Given the description of an element on the screen output the (x, y) to click on. 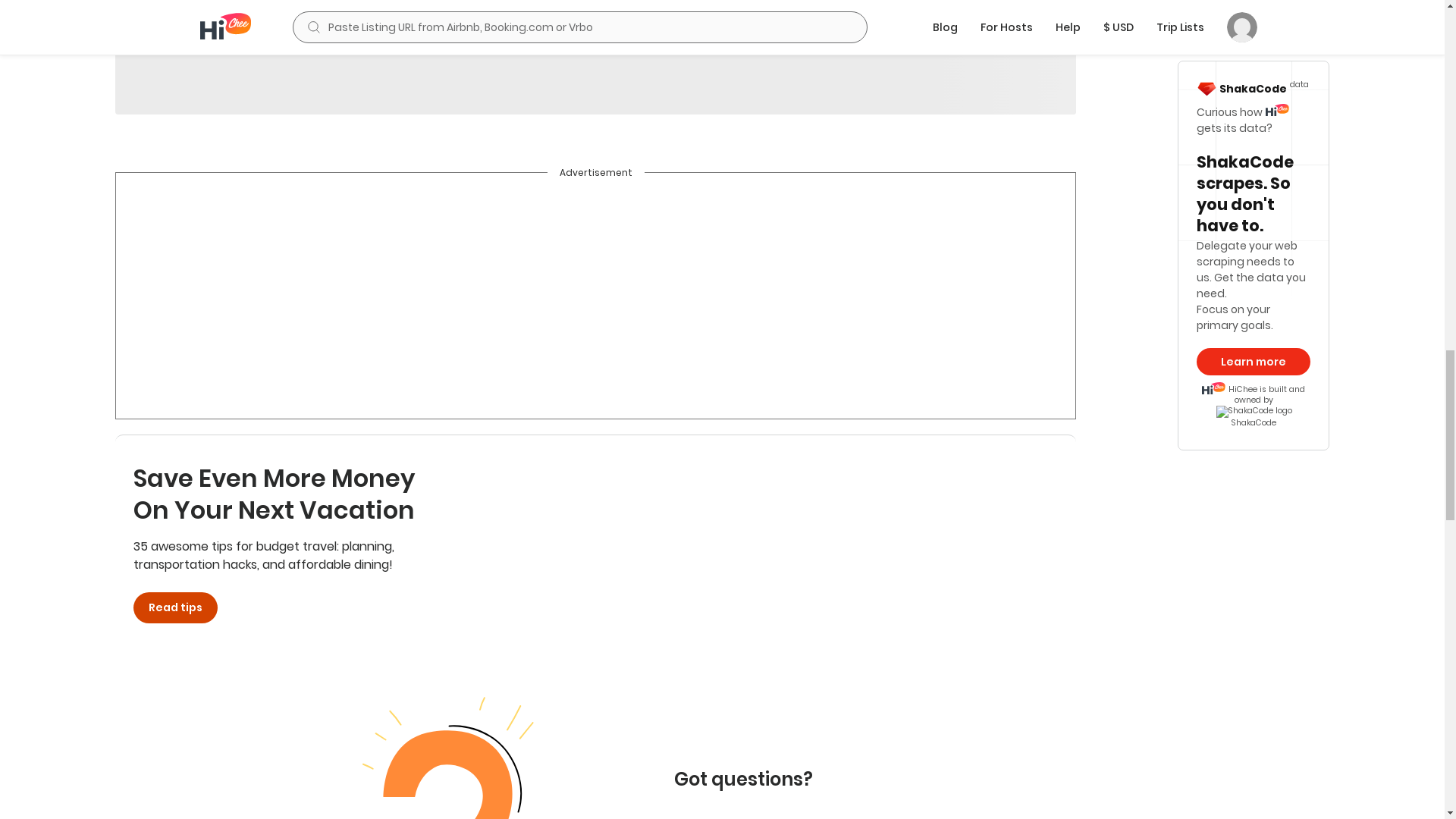
Faq Vector (465, 753)
